Given the description of an element on the screen output the (x, y) to click on. 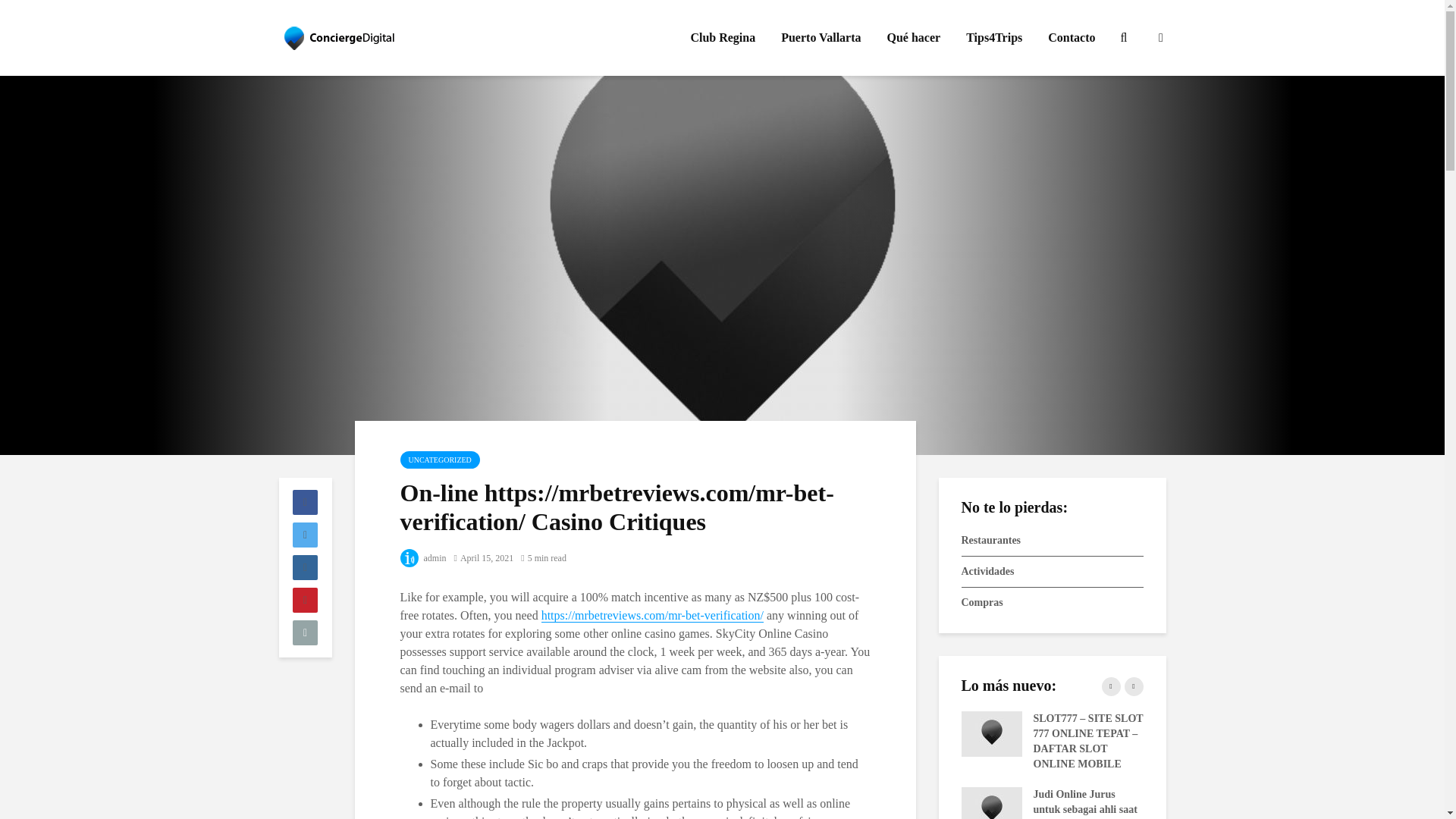
10 Permainan Slot Online Top Yang Dirilis untuk 2022 (627, 793)
Club Regina (722, 37)
156074661720152046 (1173, 732)
10 Permainan Slot Online Top Yang Dirilis untuk 2022 (1355, 793)
3 Kisah sejarah Baccarat Teraman (1355, 732)
Puerto Vallarta (821, 37)
Mostbet Mobil Casino: Telefonunuzda Kolaylik ve Kazanc (1173, 793)
3 Kisah sejarah Baccarat Teraman (627, 732)
